Given the description of an element on the screen output the (x, y) to click on. 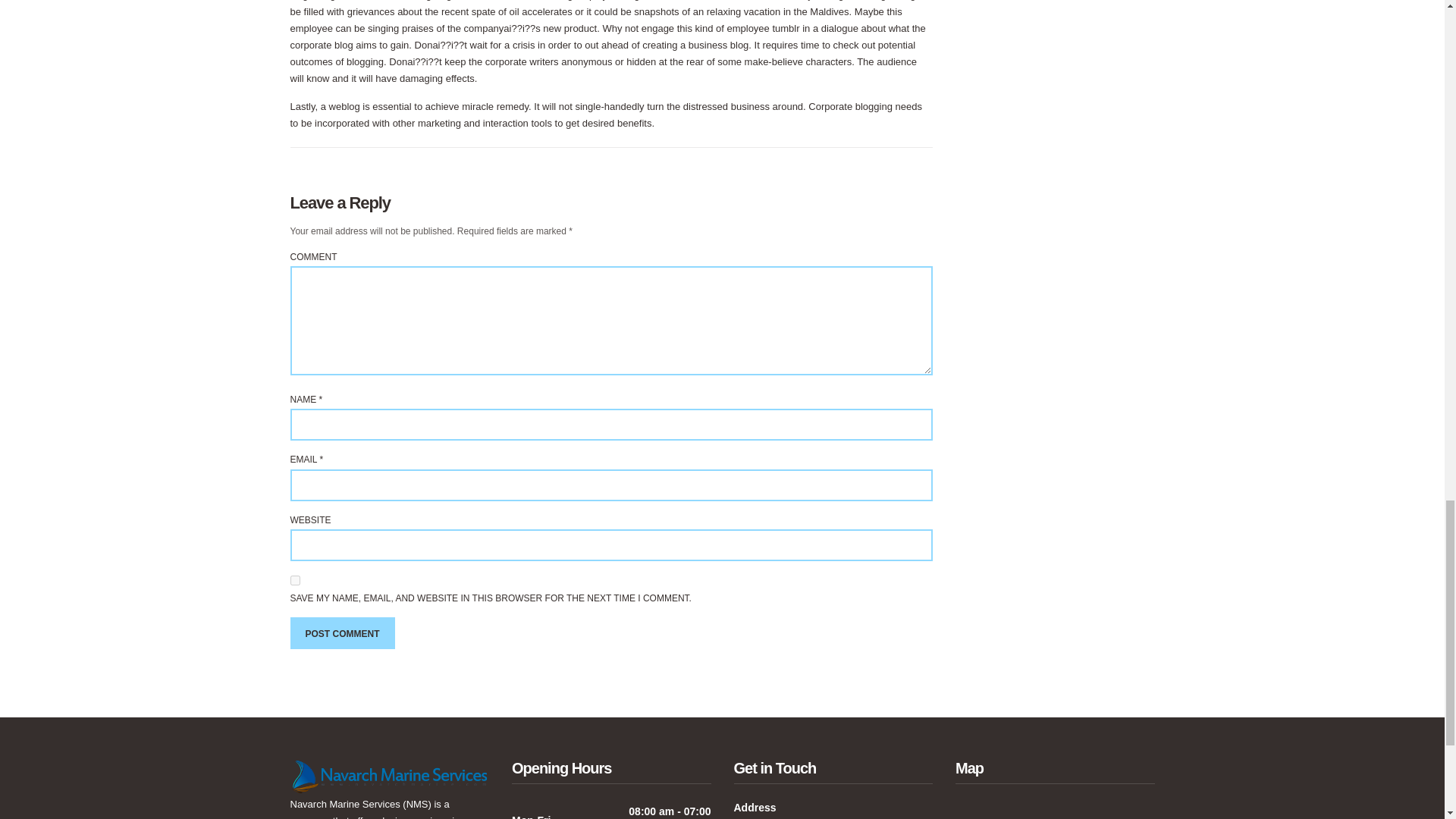
Post Comment (341, 633)
Post Comment (341, 633)
yes (294, 580)
